Given the description of an element on the screen output the (x, y) to click on. 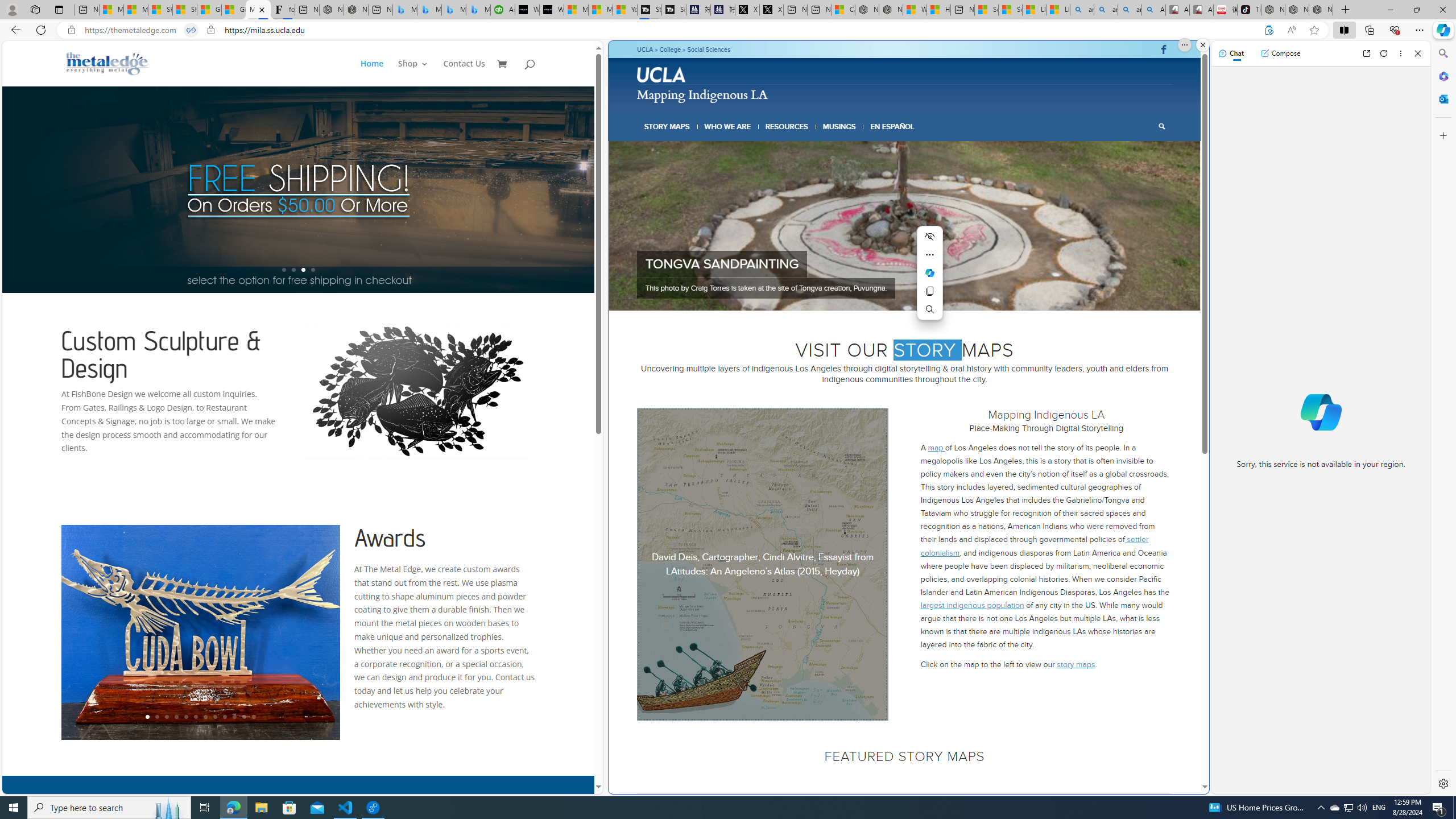
Split screen (1344, 29)
New tab (962, 9)
Huge shark washes ashore at New York City beach | Watch (938, 9)
4 (899, 296)
MUSINGS (839, 126)
Nordace Siena Pro 15 Backpack (1296, 9)
Metal Fish Sculptures & Metal Designs (106, 63)
largest indigenous population (972, 604)
Settings (1442, 783)
Nordace - Best Sellers (1273, 9)
Microsoft Bing Travel - Stays in Bangkok, Bangkok, Thailand (429, 9)
Shop3 (419, 72)
Customize (1442, 135)
